Given the description of an element on the screen output the (x, y) to click on. 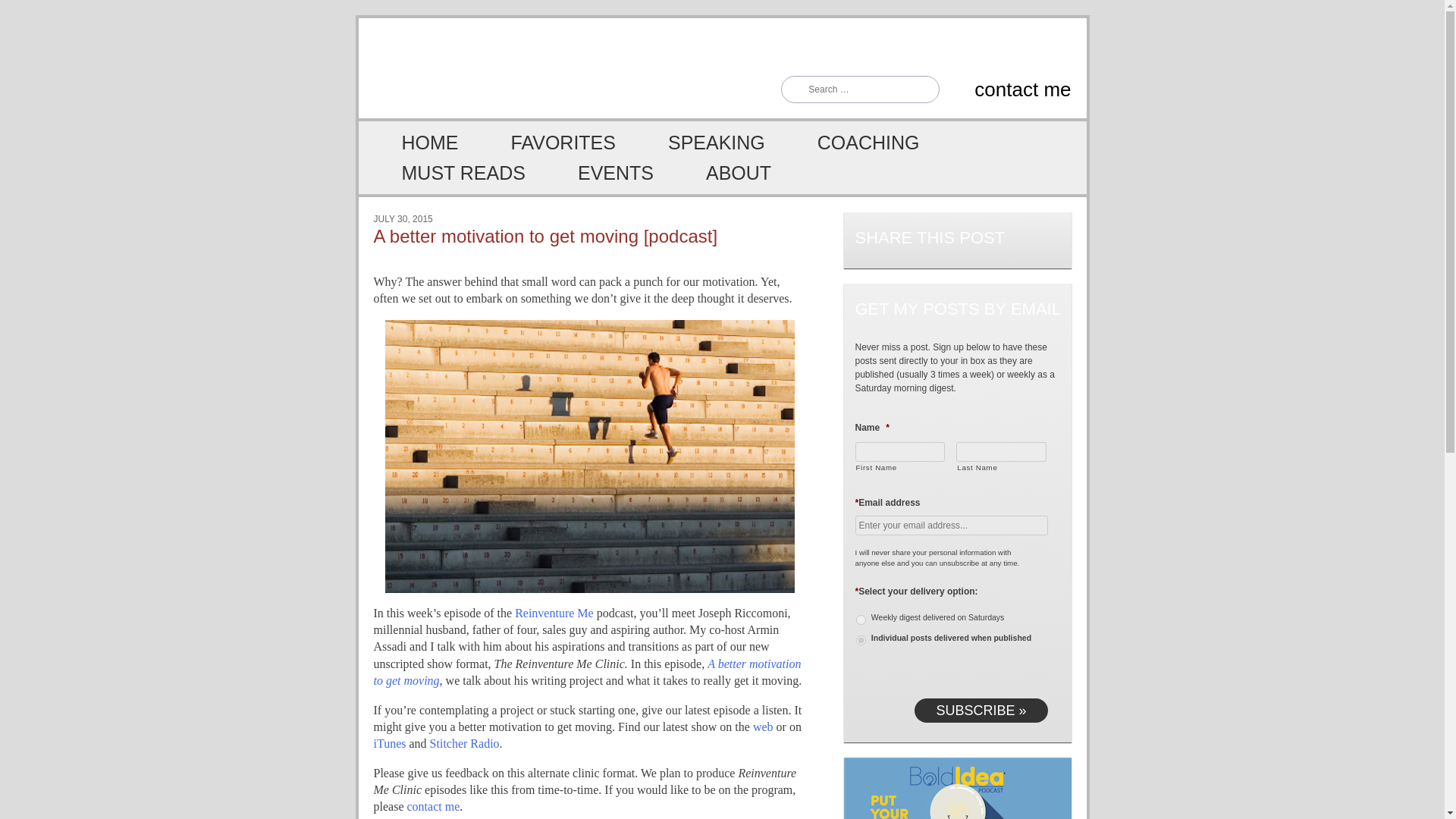
HOME (412, 142)
Weekly digest delivered on Saturdays (860, 619)
web (762, 726)
contact me (1008, 89)
Facebook (957, 46)
Skip to content (394, 131)
Reinventure Me (554, 612)
What I am about, not the things I do (721, 173)
FAVORITES (545, 142)
COACHING (851, 142)
contact me (433, 806)
Individual posts delivered when published (860, 640)
LinkedIn (990, 46)
YouTube (890, 46)
SPEAKING (699, 142)
